Given the description of an element on the screen output the (x, y) to click on. 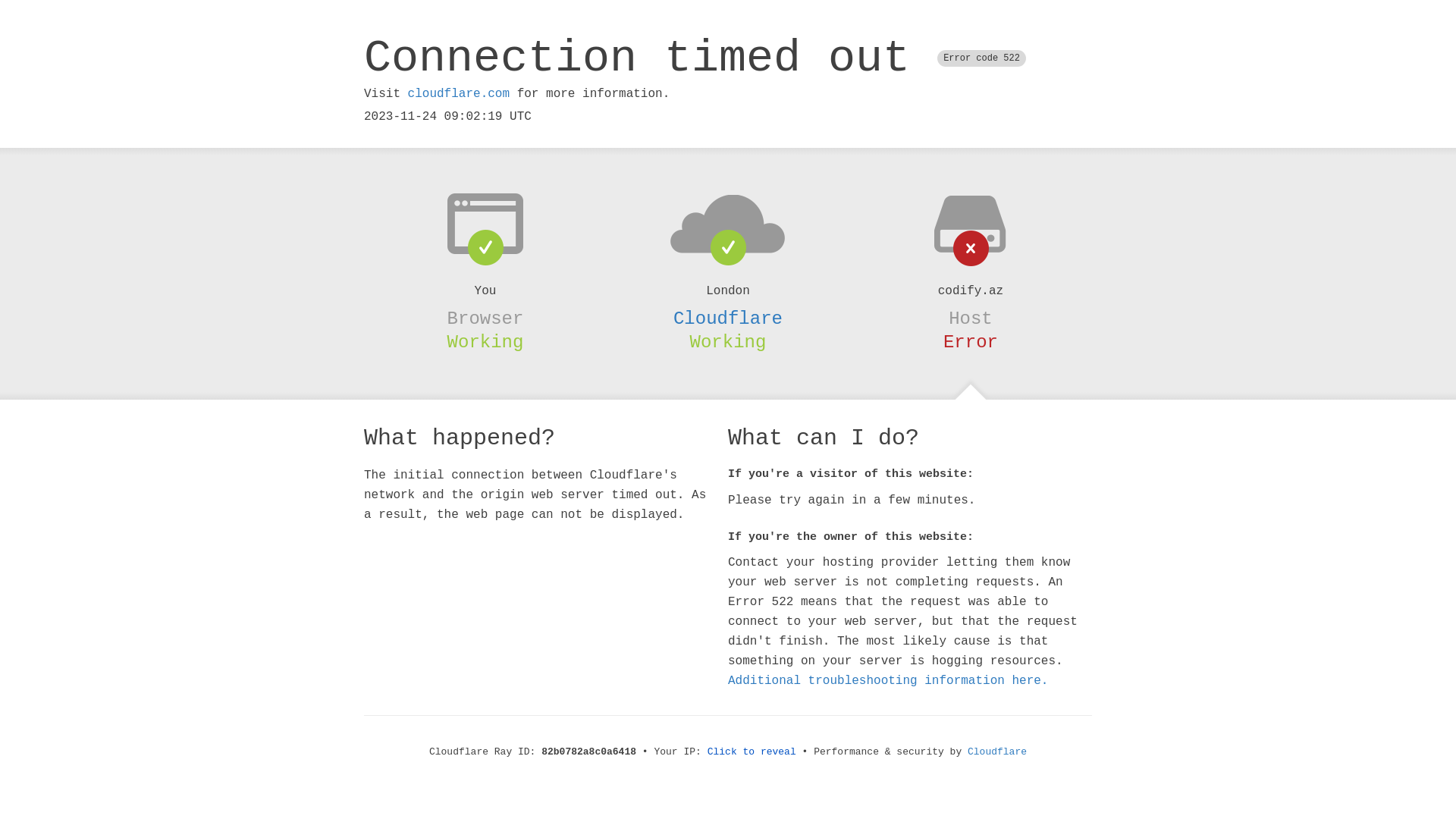
Click to reveal Element type: text (751, 751)
cloudflare.com Element type: text (458, 93)
Additional troubleshooting information here. Element type: text (888, 680)
Cloudflare Element type: text (727, 318)
Cloudflare Element type: text (996, 751)
